Given the description of an element on the screen output the (x, y) to click on. 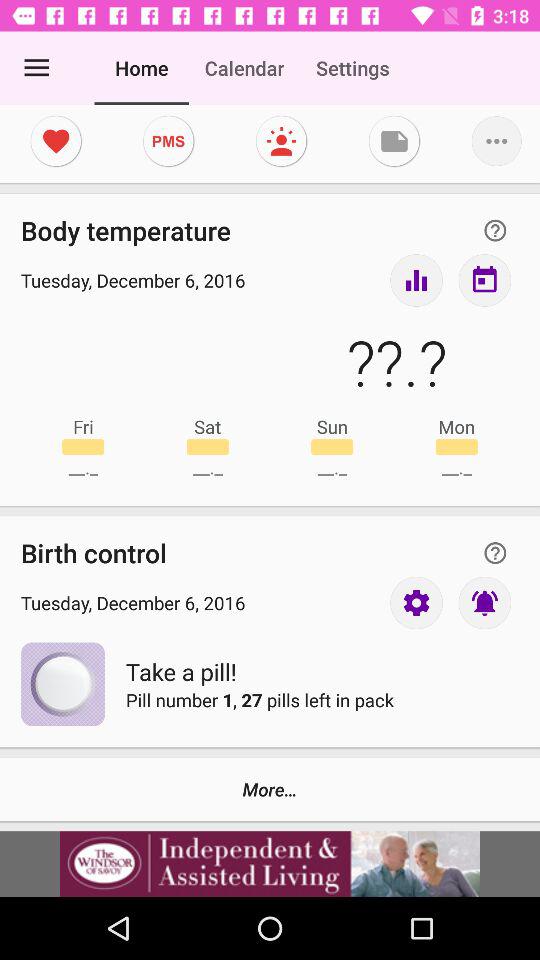
open more information button (495, 552)
